Given the description of an element on the screen output the (x, y) to click on. 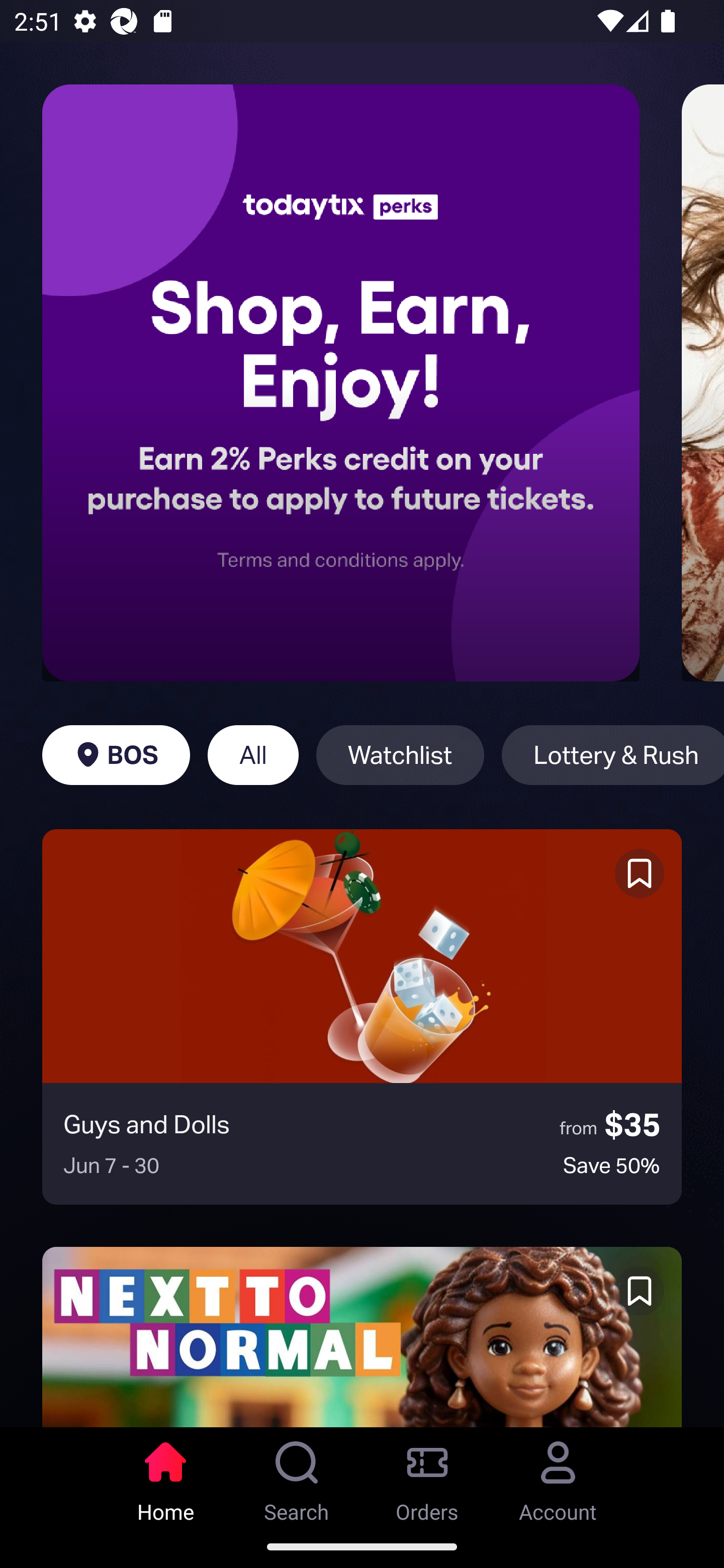
BOS (115, 754)
All (252, 754)
Watchlist (400, 754)
Lottery & Rush (612, 754)
Guys and Dolls from $35 Jun 7 - 30 Save 50% (361, 1016)
Search (296, 1475)
Orders (427, 1475)
Account (558, 1475)
